Given the description of an element on the screen output the (x, y) to click on. 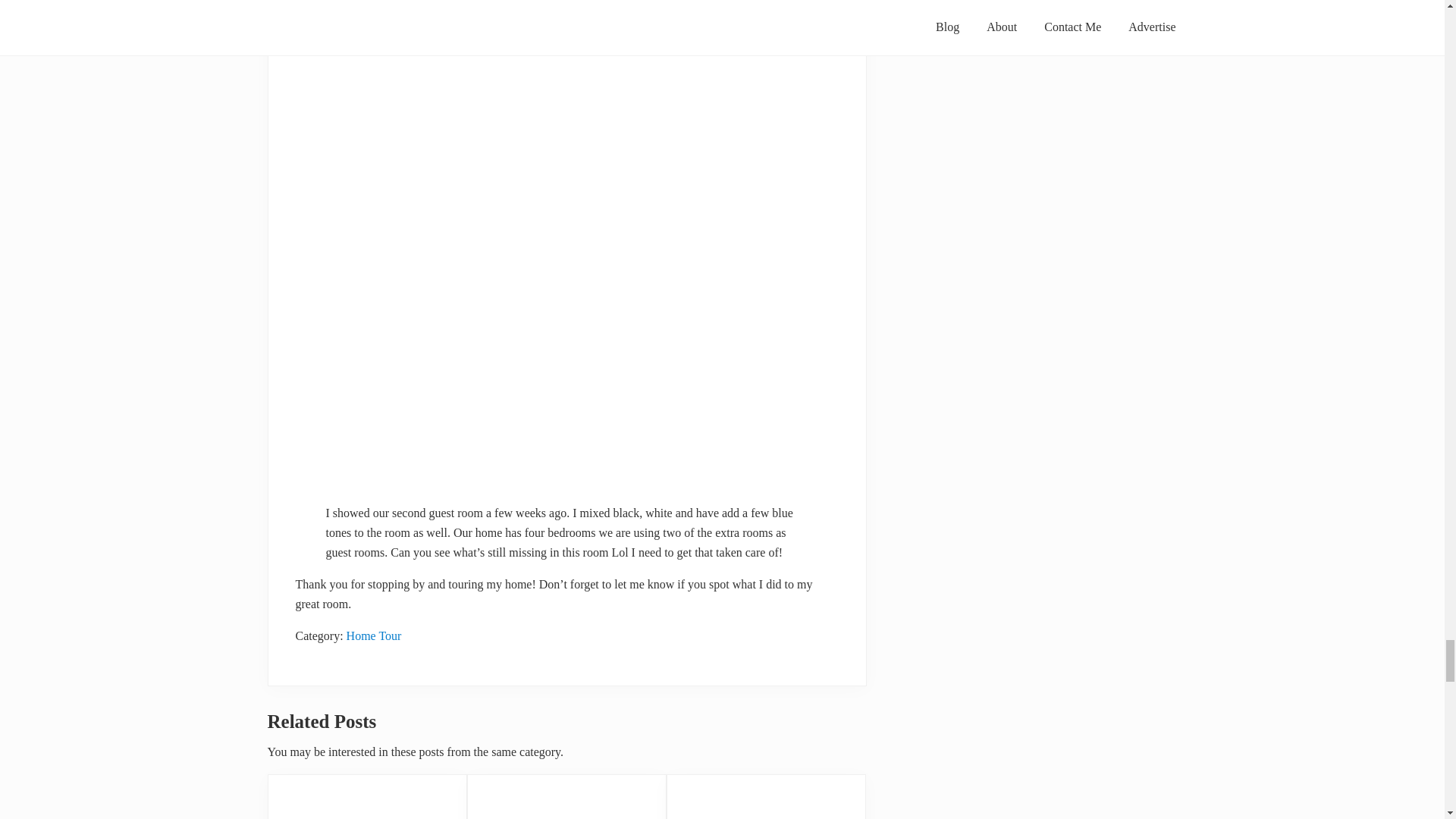
How To Update The Master Bedroom On A Budget (766, 796)
Welcome To My Christmas Home Tour 2023 (365, 796)
How To Get The House Ready For Fall Maintenance (566, 796)
